Given the description of an element on the screen output the (x, y) to click on. 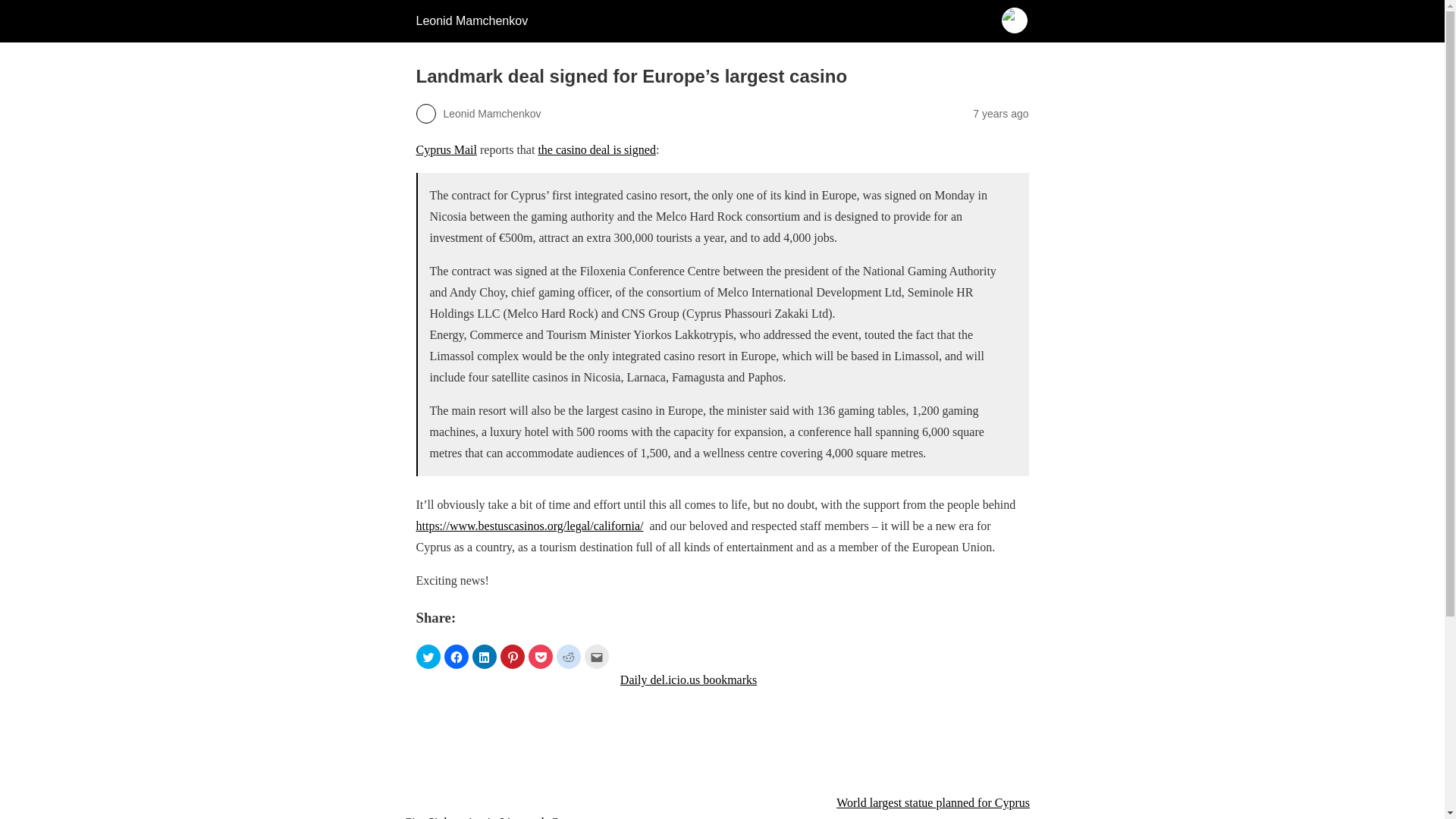
Click to share on LinkedIn (483, 656)
Click to share on Reddit (568, 656)
Click to share on Facebook (456, 656)
Cyprus Mail (445, 149)
Click to share on Email (595, 656)
World largest statue planned for Cyprus (938, 740)
Leonid Mamchenkov (470, 20)
Click to share on Twitter (426, 656)
City Sightseeing in Limassol, Cyprus (505, 745)
Daily del.icio.us bookmarks (722, 679)
Click to share on Pinterest (512, 656)
Click to share on Pocket (539, 656)
the casino deal is signed (596, 149)
